Given the description of an element on the screen output the (x, y) to click on. 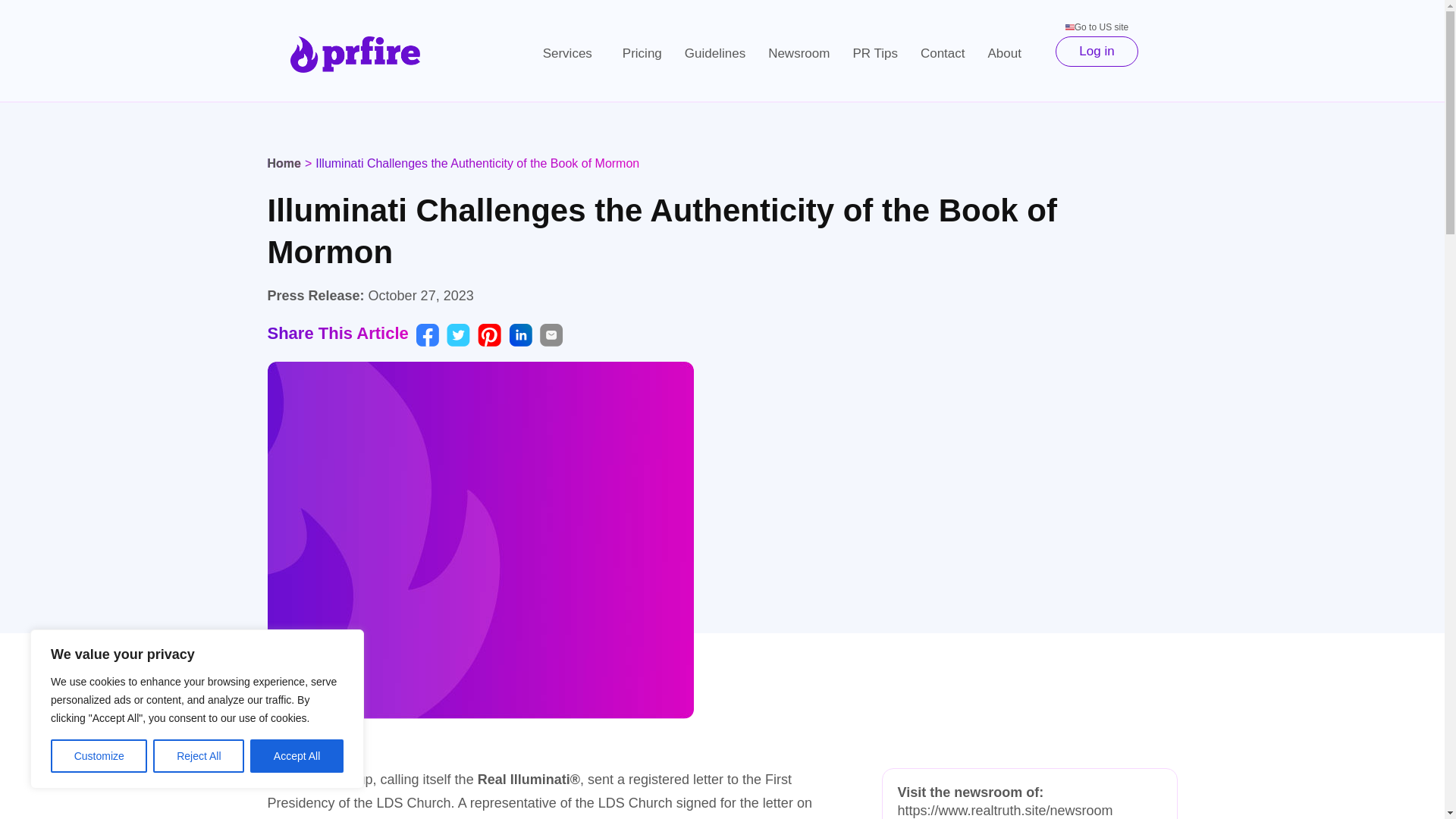
Customize (98, 756)
Pricing (641, 53)
Contact (942, 53)
Reject All (198, 756)
PR Tips (874, 53)
Newsroom (799, 53)
Accept All (296, 756)
About (1008, 53)
Services (571, 53)
Guidelines (714, 53)
